Given the description of an element on the screen output the (x, y) to click on. 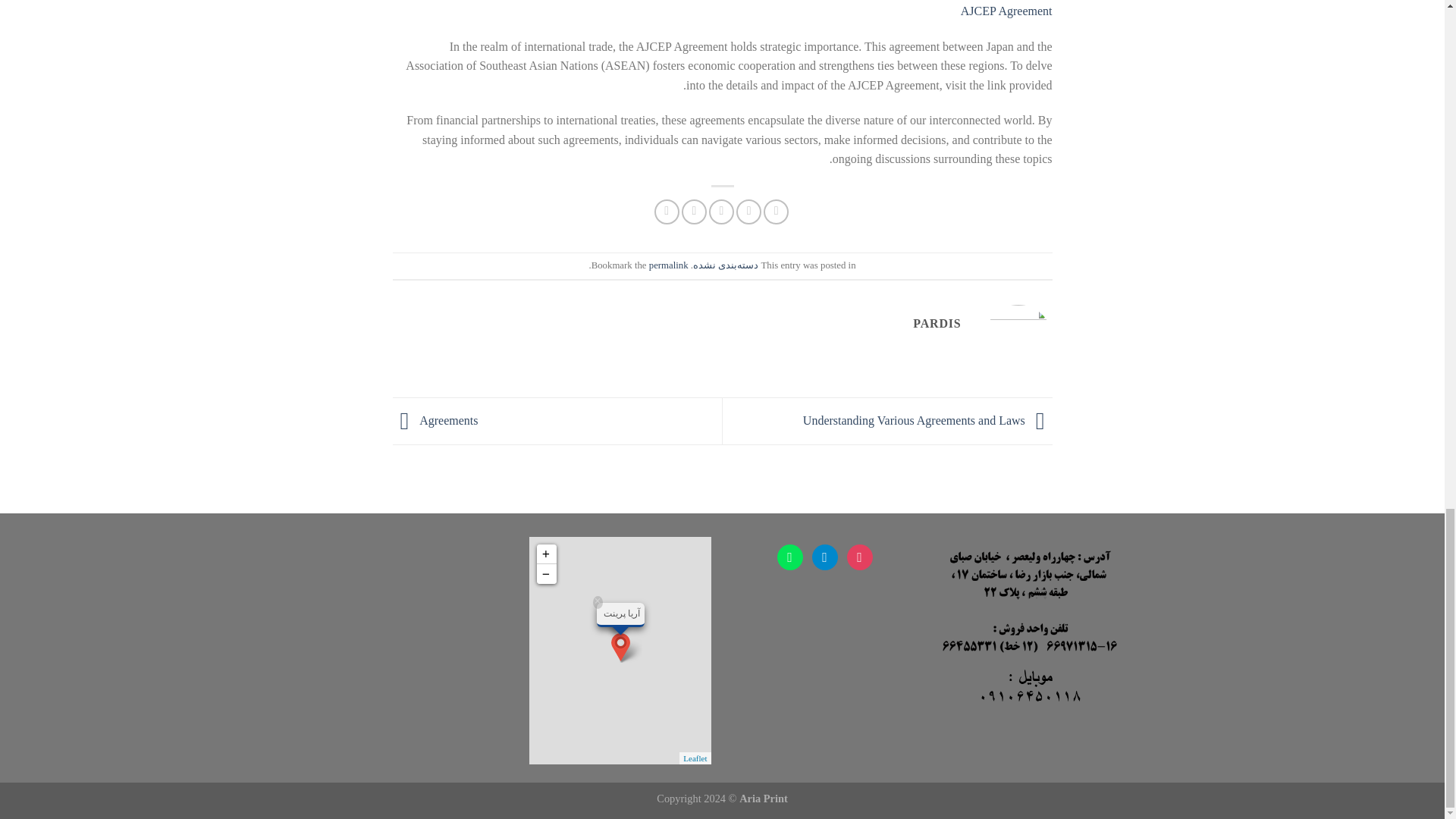
A JS library for interactive maps (694, 757)
Zoom in (546, 554)
Zoom out (546, 573)
